Given the description of an element on the screen output the (x, y) to click on. 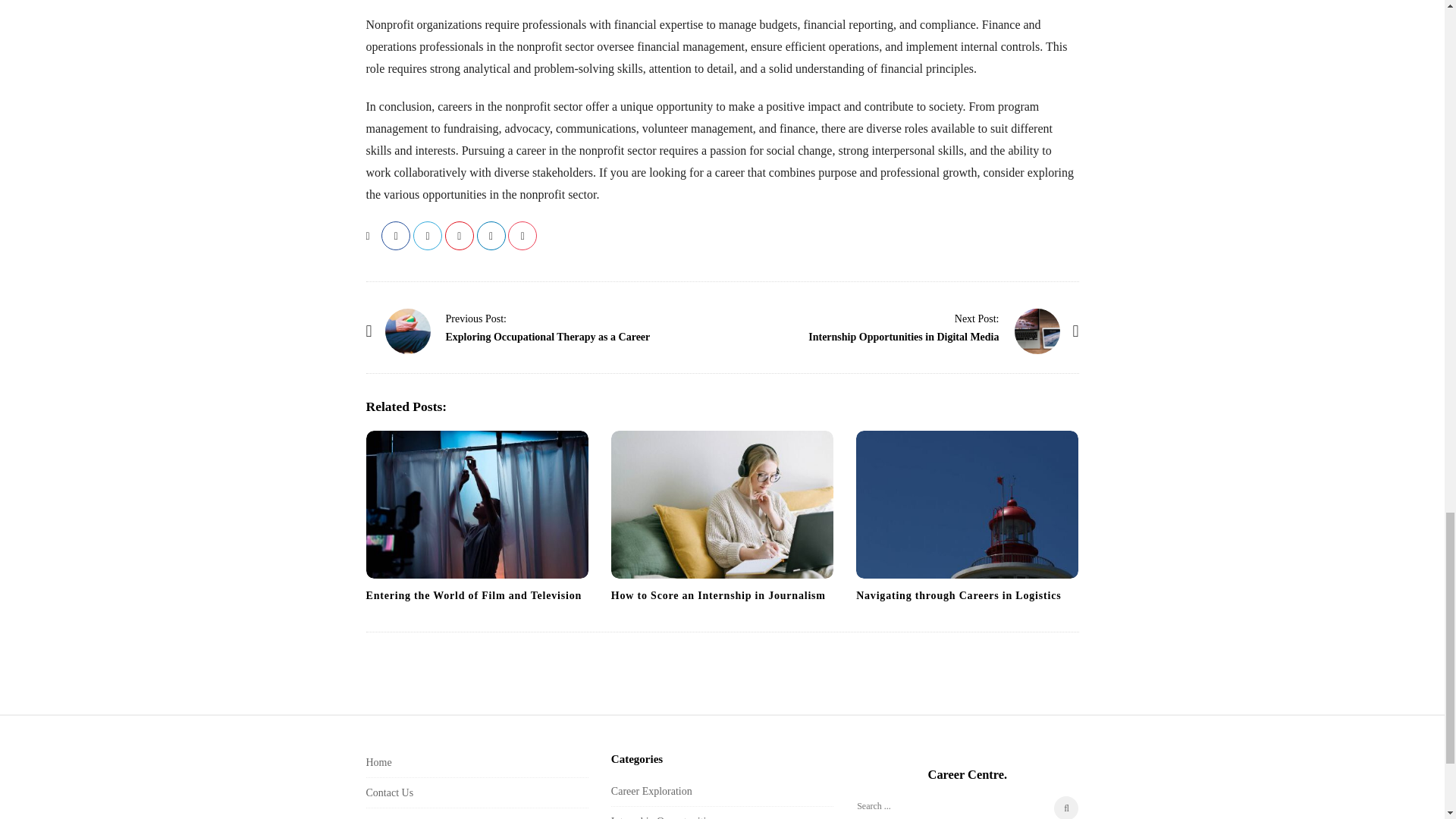
Exploring Occupational Therapy as a Career (475, 318)
Exploring Occupational Therapy as a Career (547, 337)
How to Score an Internship in Journalism (718, 595)
Entering the World of Film and Television (476, 504)
Exploring Occupational Therapy as a Career (407, 330)
Next Post: (976, 318)
Internship Opportunities in Digital Media (976, 318)
Navigating through Careers in Logistics (958, 595)
Entering the World of Film and Television (472, 595)
Internship Opportunities in Digital Media (903, 337)
Internship Opportunities in Digital Media (1036, 330)
How to Score an Internship in Journalism (721, 504)
Previous Post: (475, 318)
Entering the World of Film and Television (472, 595)
Navigating through Careers in Logistics (958, 595)
